Given the description of an element on the screen output the (x, y) to click on. 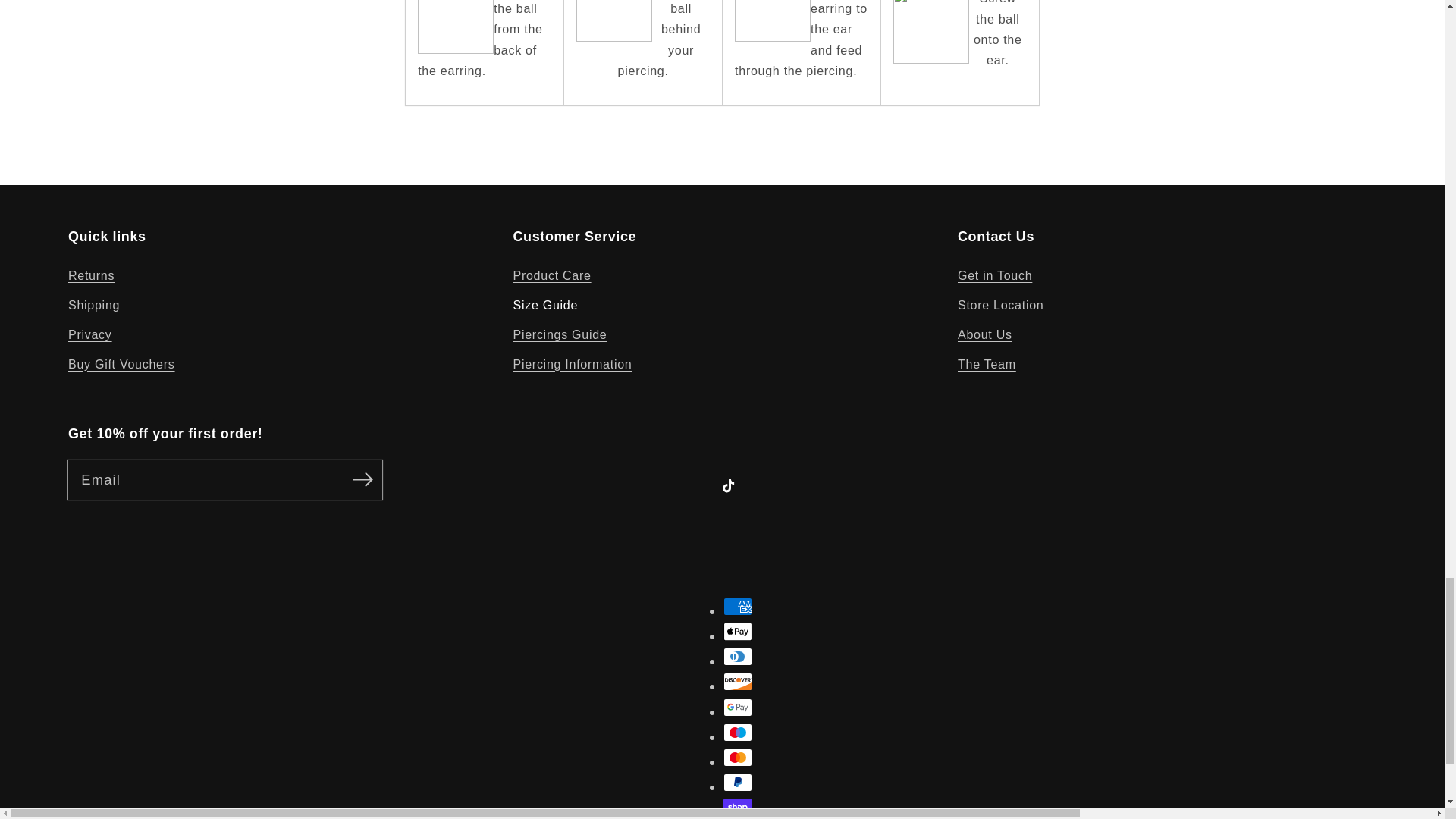
Discover (737, 681)
Shop Pay (737, 807)
Mastercard (737, 757)
American Express (737, 606)
Maestro (737, 732)
Diners Club (737, 656)
Google Pay (737, 707)
Apple Pay (737, 631)
PayPal (737, 782)
